Given the description of an element on the screen output the (x, y) to click on. 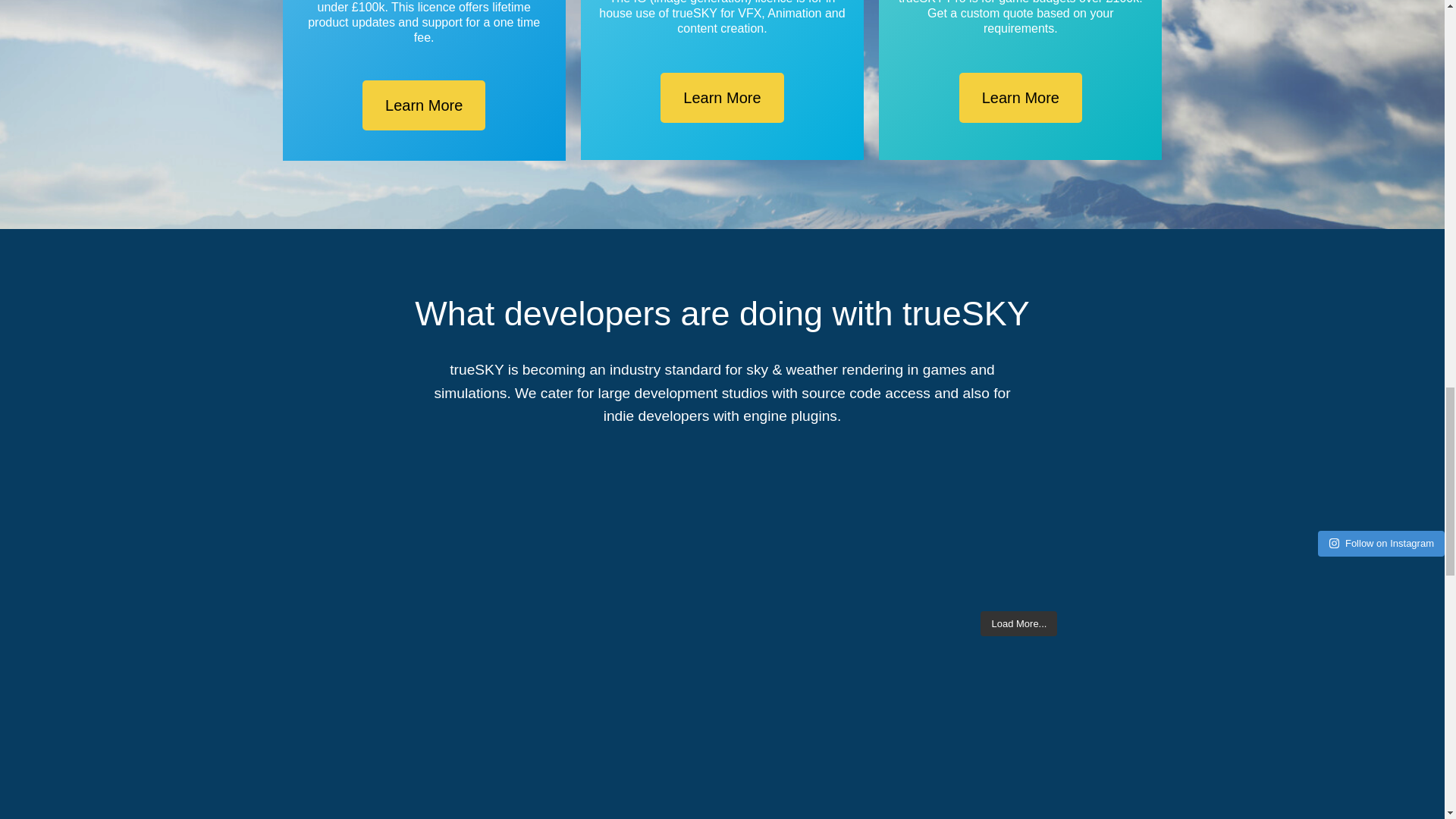
Learn More (423, 105)
Load More... (1018, 623)
Learn More (1020, 97)
Learn More (722, 97)
